Given the description of an element on the screen output the (x, y) to click on. 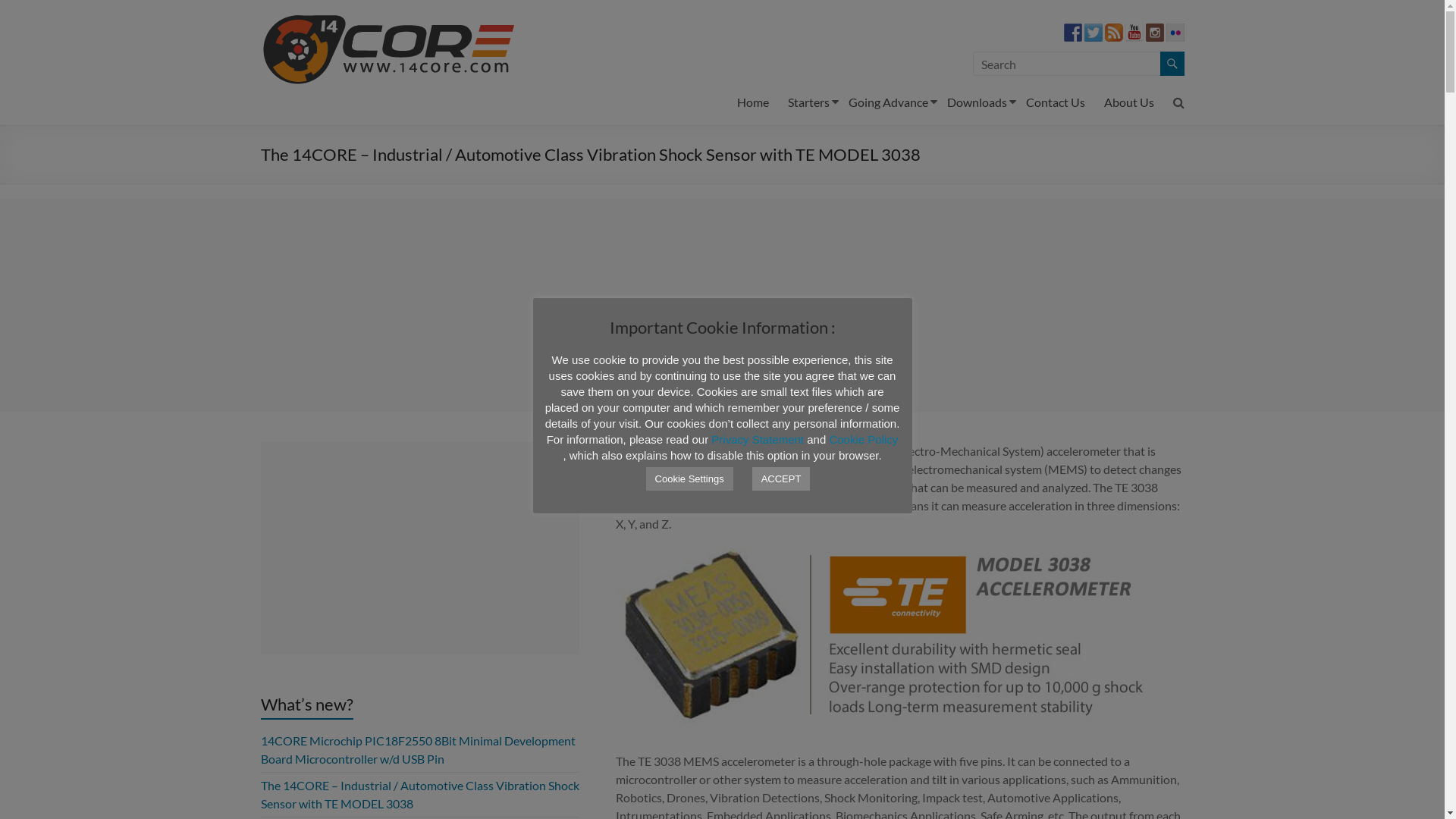
Check out our instagram feed Element type: hover (1154, 32)
Cookie Policy Element type: text (862, 439)
Advertisement Element type: hover (721, 305)
Home Element type: text (752, 102)
Advertisement Element type: hover (419, 548)
Going Advance Element type: text (887, 102)
Contact Us Element type: text (1054, 102)
Find us on YouTube Element type: hover (1134, 32)
Follow us on Twitter Element type: hover (1093, 32)
Cookie Settings Element type: text (689, 478)
Subscribe to our RSS Feed Element type: hover (1113, 32)
https://www.facebook.com/14core-1318057461590353/ Element type: hover (1072, 32)
14core.com Element type: text (330, 31)
Check out our flickr feed Element type: hover (1175, 32)
Downloads Element type: text (976, 102)
Privacy Statement Element type: text (758, 439)
About Us Element type: text (1129, 102)
ACCEPT Element type: text (781, 478)
Starters Element type: text (807, 102)
